Given the description of an element on the screen output the (x, y) to click on. 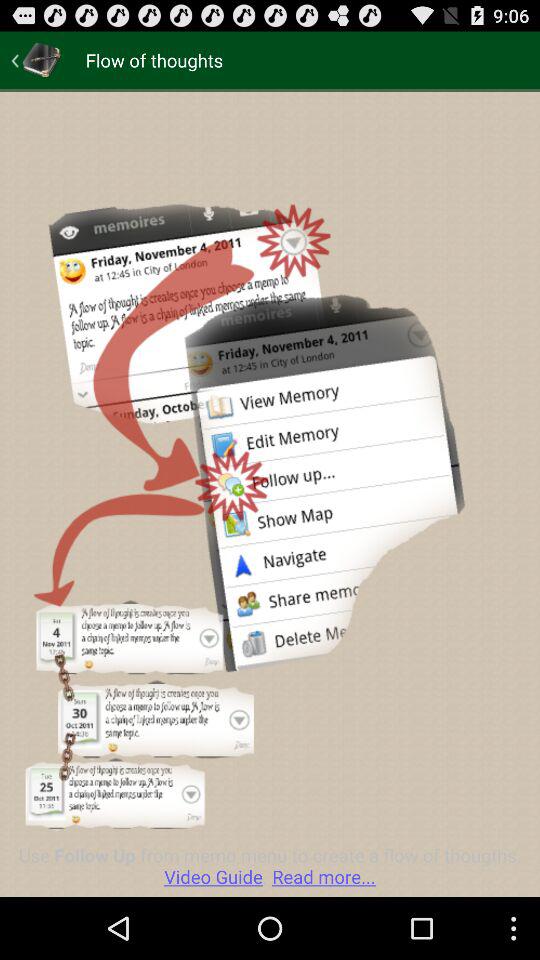
back to previous page (36, 60)
